Given the description of an element on the screen output the (x, y) to click on. 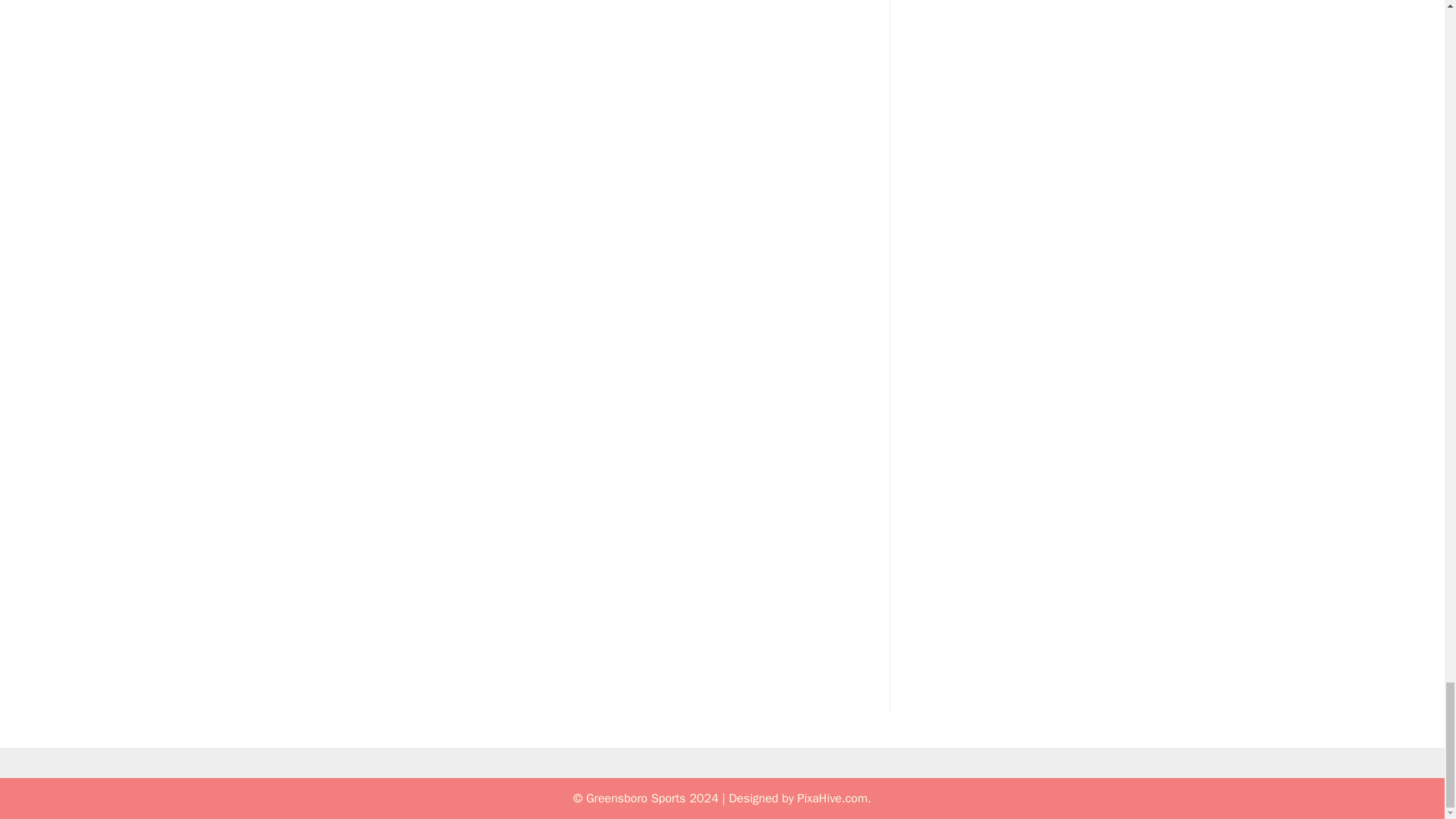
PixaHive.com (831, 798)
